Given the description of an element on the screen output the (x, y) to click on. 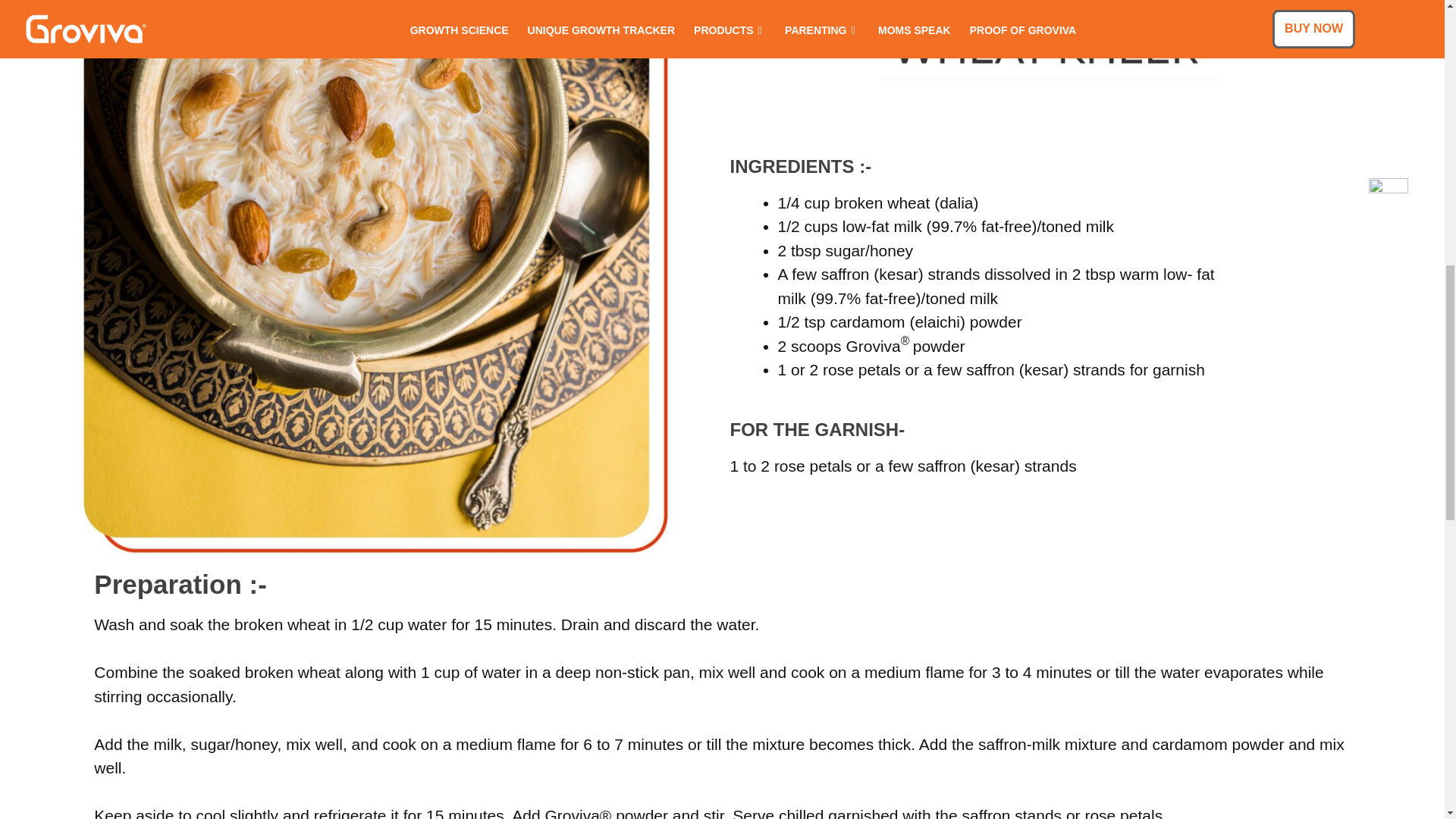
Scroll back to top (1406, 720)
Page 2 (1068, 466)
